Given the description of an element on the screen output the (x, y) to click on. 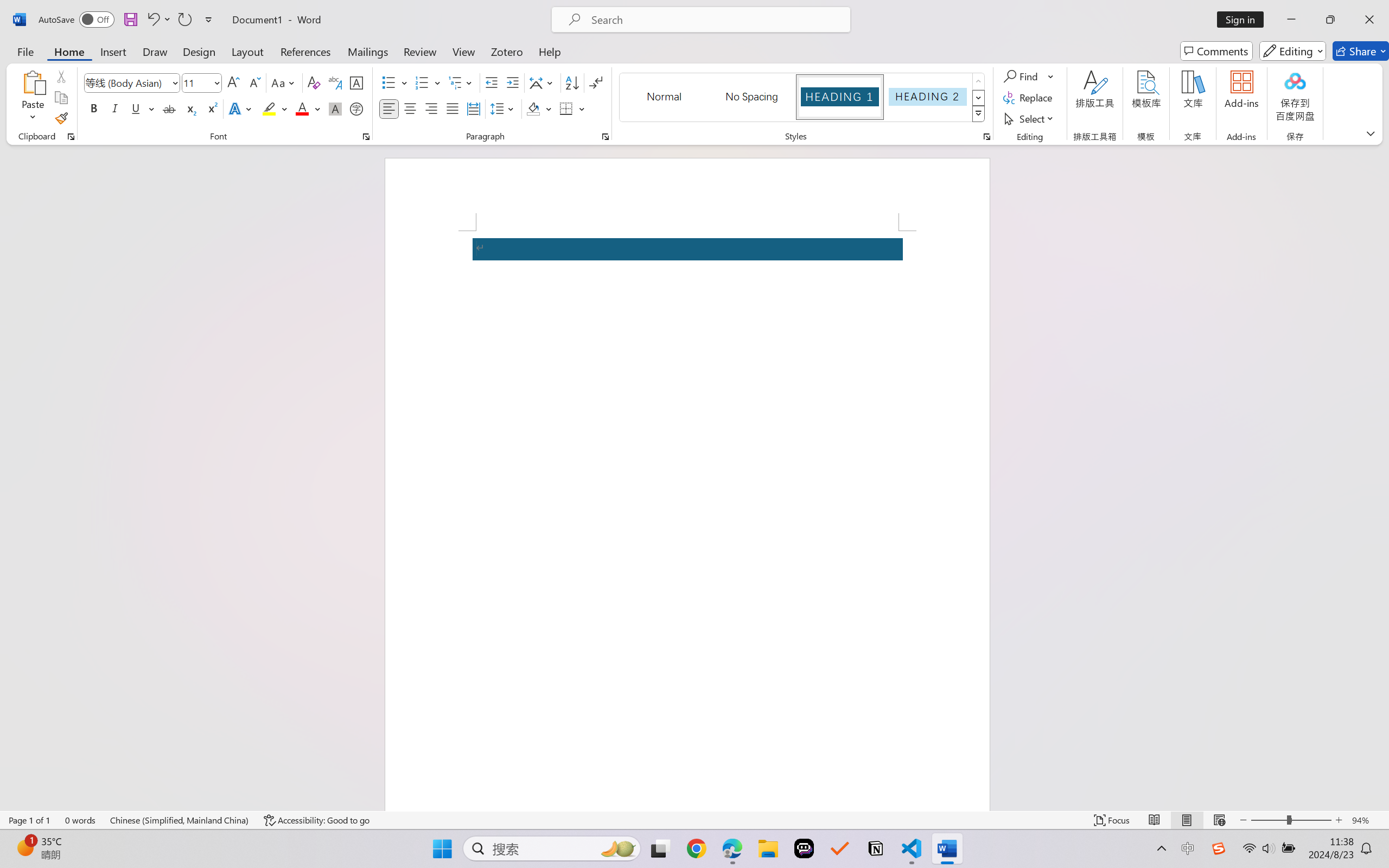
Test new features (40, 807)
Shorts (61, 129)
Turn on (1301, 143)
Music (61, 372)
Install YouTube (1295, 37)
Subscriptions (61, 153)
